Given the description of an element on the screen output the (x, y) to click on. 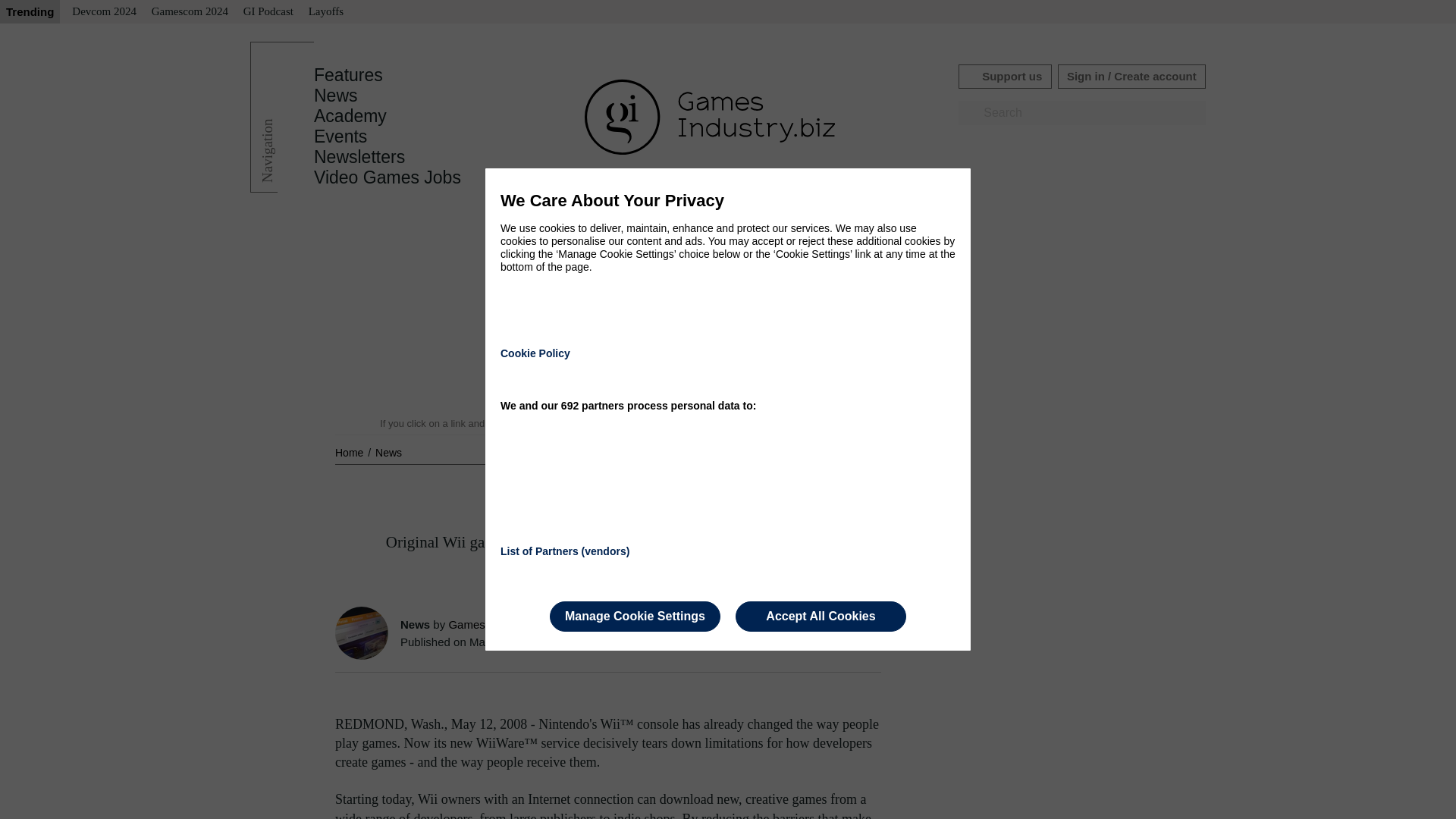
Support us (1004, 75)
News (336, 95)
Academy (350, 116)
Newsletters (359, 157)
Home (350, 452)
News (388, 452)
News (388, 452)
Devcom 2024 (103, 11)
Gamescom 2024 (189, 11)
Layoffs (325, 11)
